Given the description of an element on the screen output the (x, y) to click on. 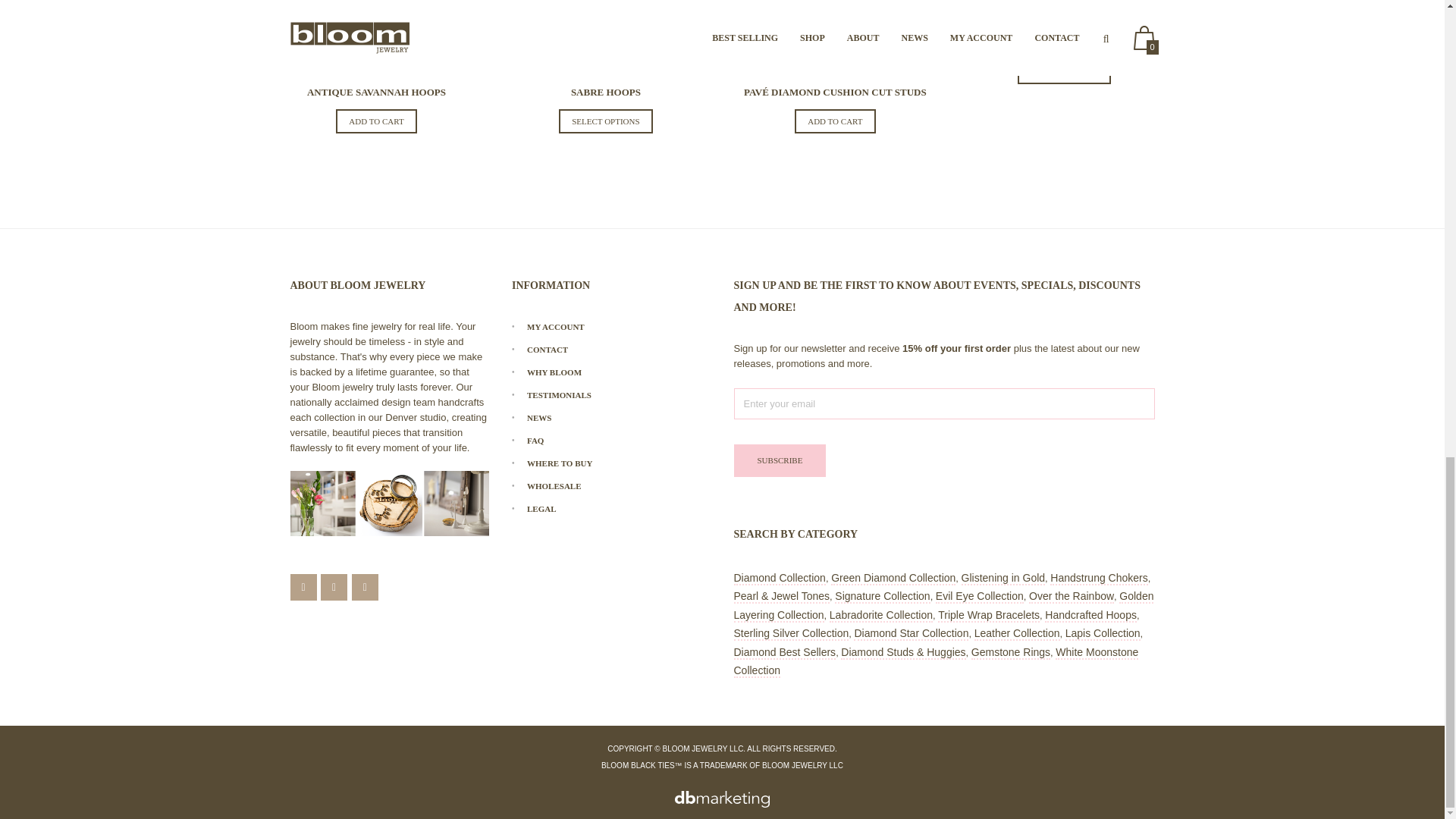
Handstrung Chokers (1098, 578)
SUBSCRIBE (780, 460)
Glistening in Gold (1002, 578)
Green Diamond Collection (893, 578)
Diamond Collection (779, 578)
